Given the description of an element on the screen output the (x, y) to click on. 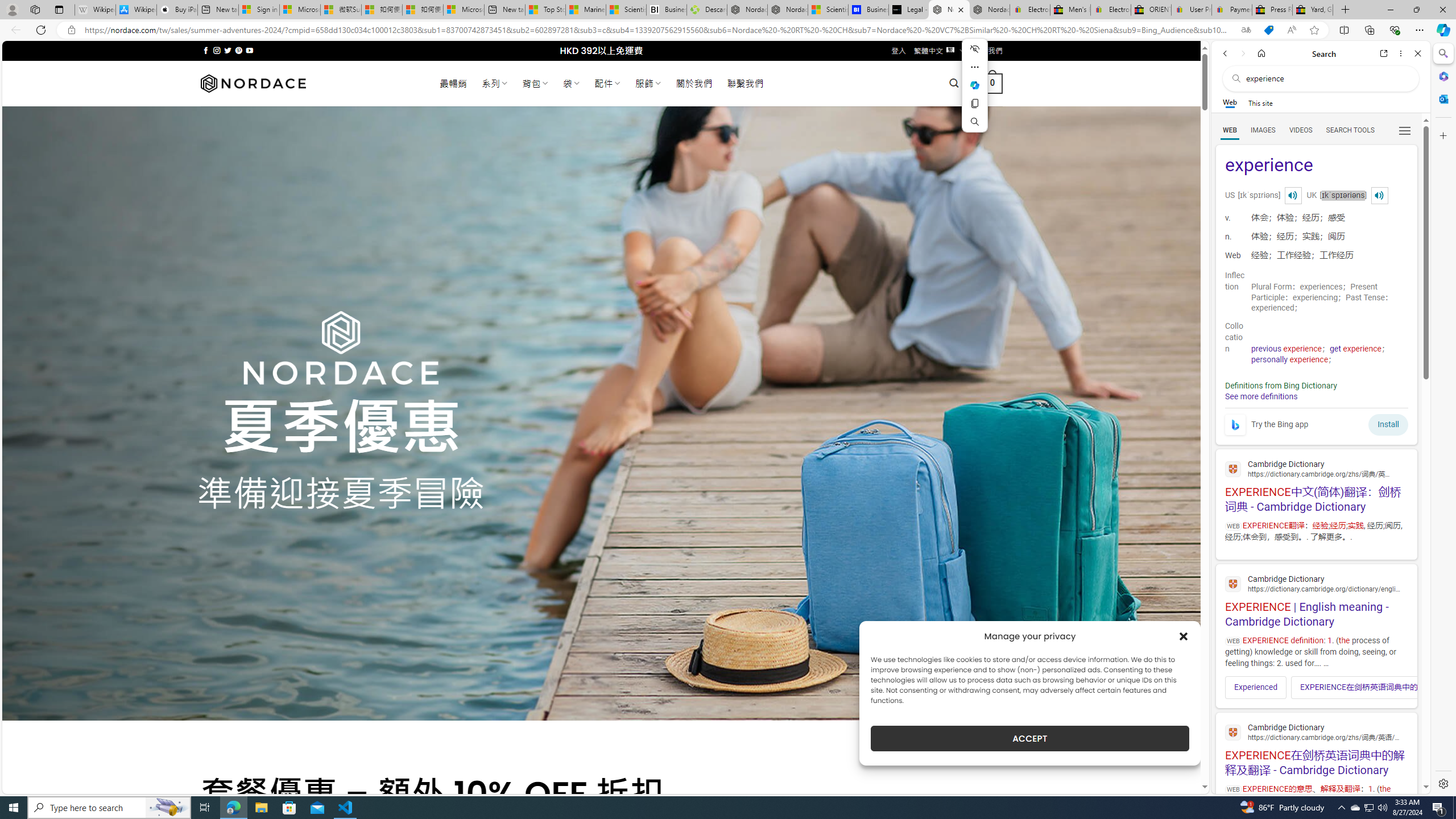
experience (1315, 165)
